Given the description of an element on the screen output the (x, y) to click on. 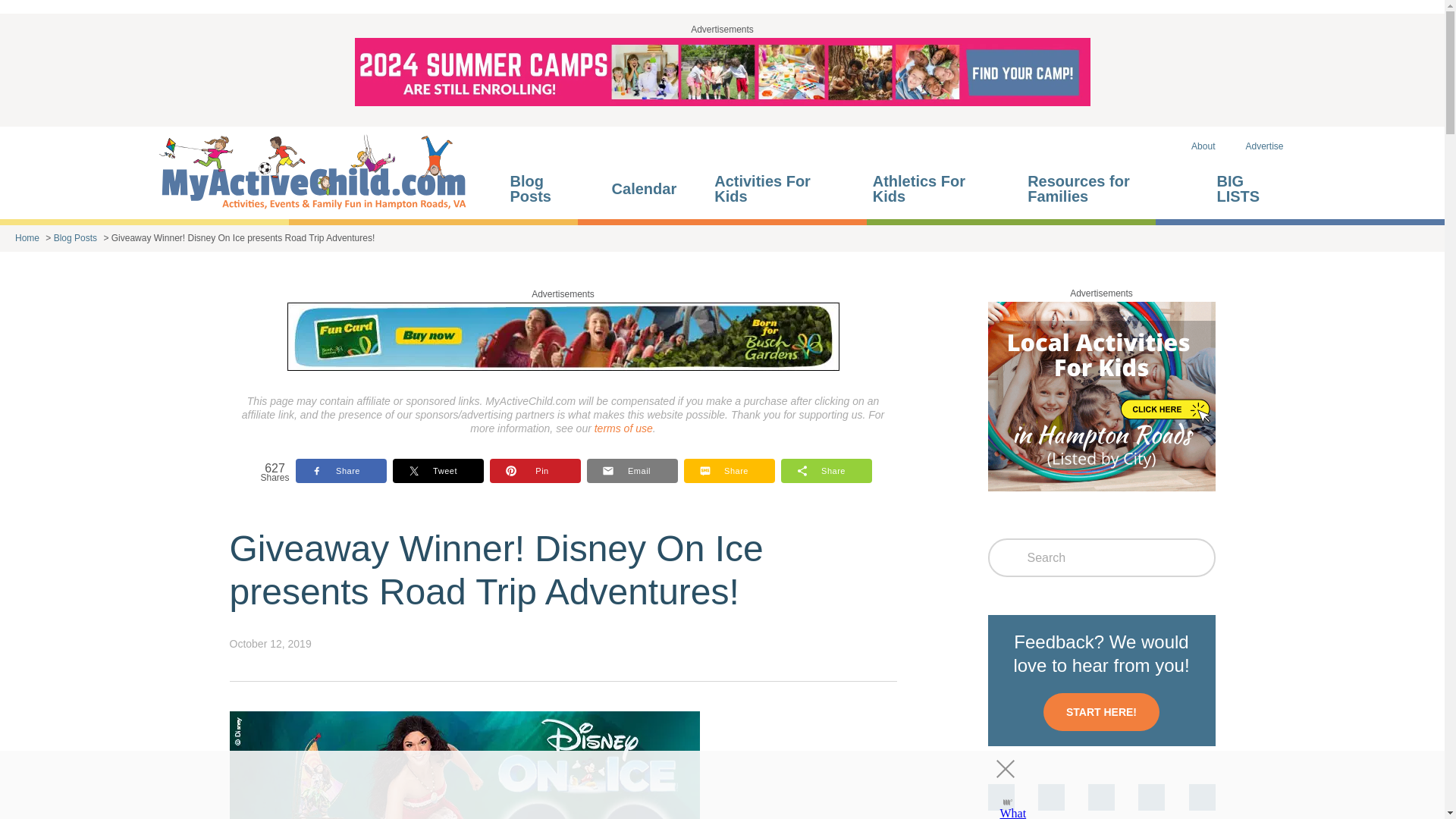
MyActiveChild.com Home (312, 173)
3rd party ad content (708, 785)
Activities For Kids (778, 188)
Blog Posts (545, 188)
Calendar (648, 188)
